Given the description of an element on the screen output the (x, y) to click on. 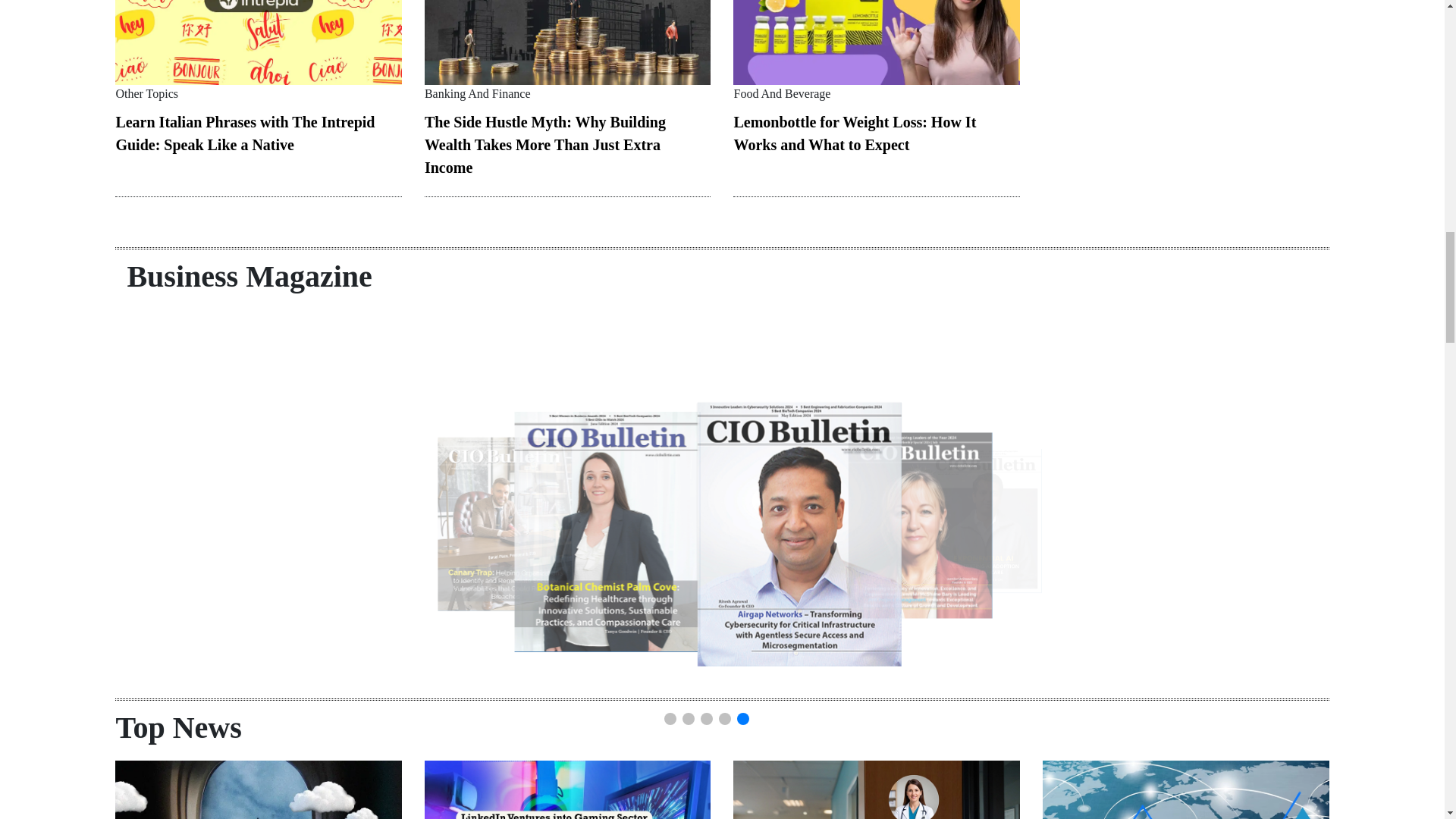
Lemonbottle for Weight Loss: How It Works and What to Expect (854, 133)
